Given the description of an element on the screen output the (x, y) to click on. 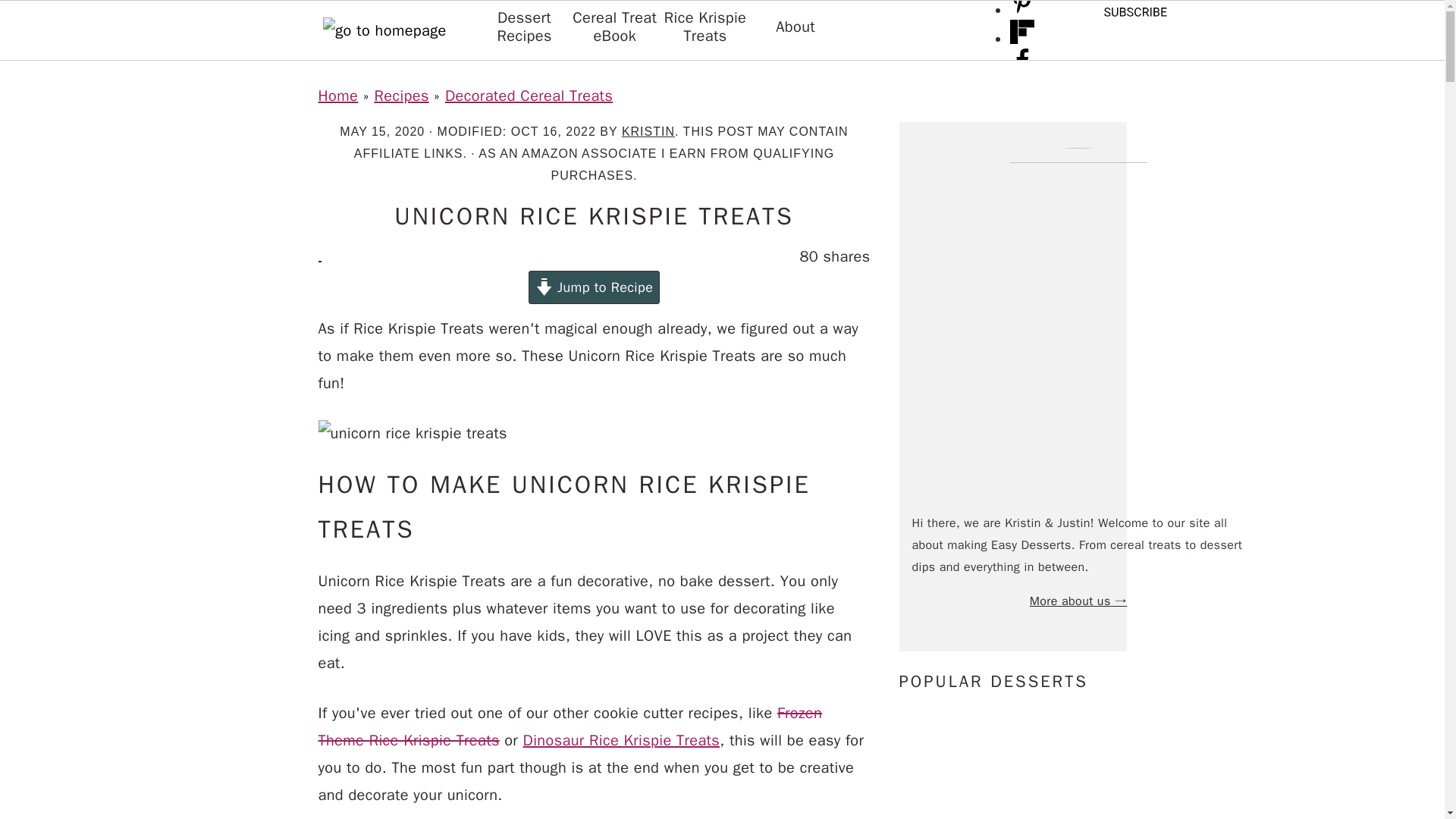
Home (338, 95)
KRISTIN (648, 131)
Decorated Cereal Treats (528, 95)
subscribe (1134, 18)
Cereal Treat eBook (615, 27)
Follow on Pinterest (1021, 9)
About (795, 27)
Recipes (401, 95)
Rice Krispie Treats (705, 27)
